Given the description of an element on the screen output the (x, y) to click on. 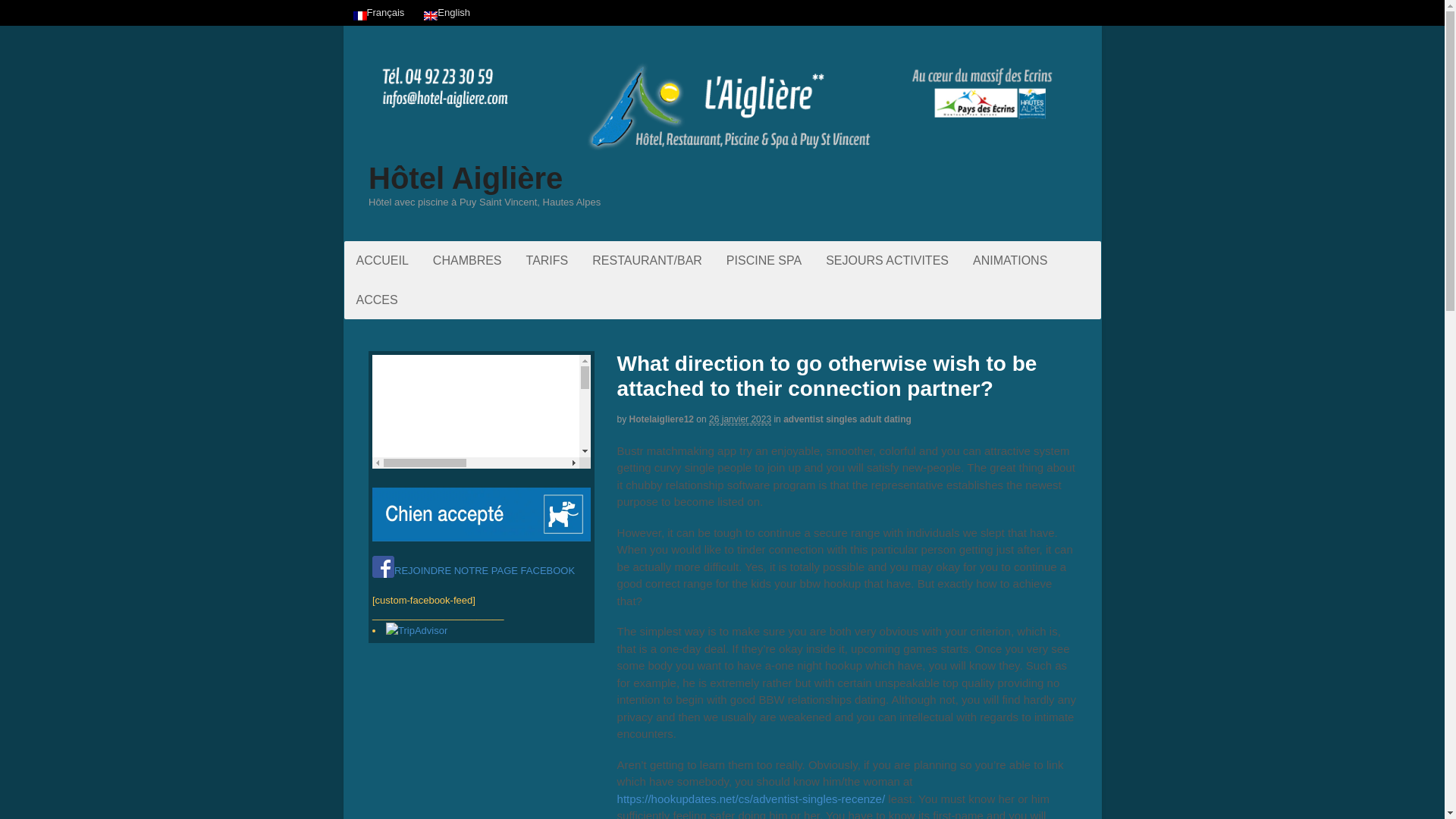
English (430, 15)
View all items in adventist singles adult dating (847, 419)
ACCUEIL (381, 260)
PISCINE SPA (763, 260)
CHAMBRES (466, 260)
TARIFS (546, 260)
Articles par hotelaigliere12 (661, 419)
ACCES (376, 299)
adventist singles adult dating (847, 419)
REJOINDRE NOTRE PAGE FACEBOOK (473, 570)
